Given the description of an element on the screen output the (x, y) to click on. 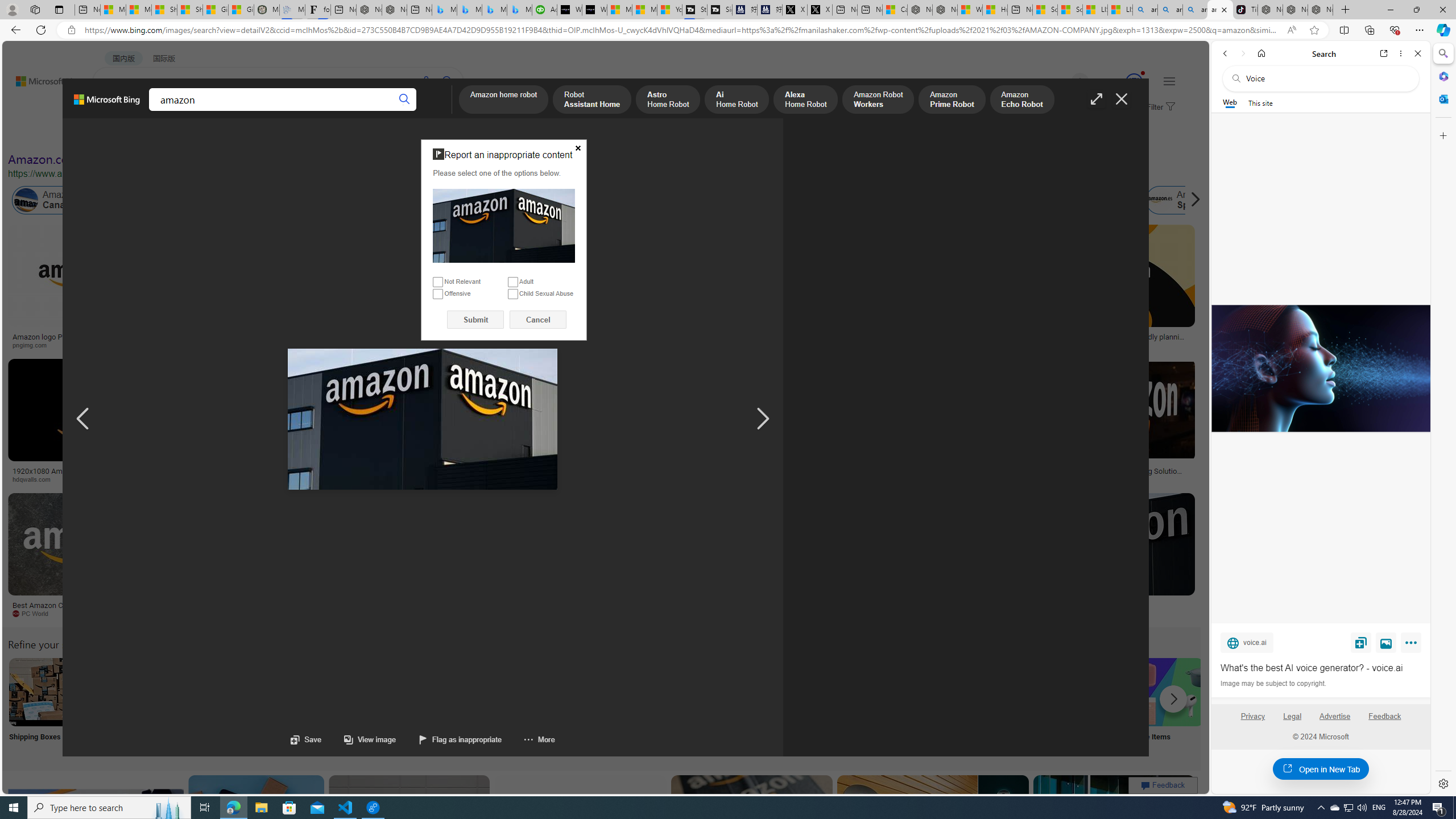
ACADEMIC (311, 111)
Online Shopping Homepage (868, 706)
GOBankingRates (275, 479)
Amazon Package Delivery (418, 691)
pngimg.com (76, 344)
GOBankingRates (225, 479)
Amazon Shoes (1079, 200)
mytotalretail.com (224, 344)
thewrap.com (533, 613)
Amazon Prime Membership (801, 199)
Amazon Retail Store (493, 691)
Nordace - Summer Adventures 2024 (944, 9)
